Given the description of an element on the screen output the (x, y) to click on. 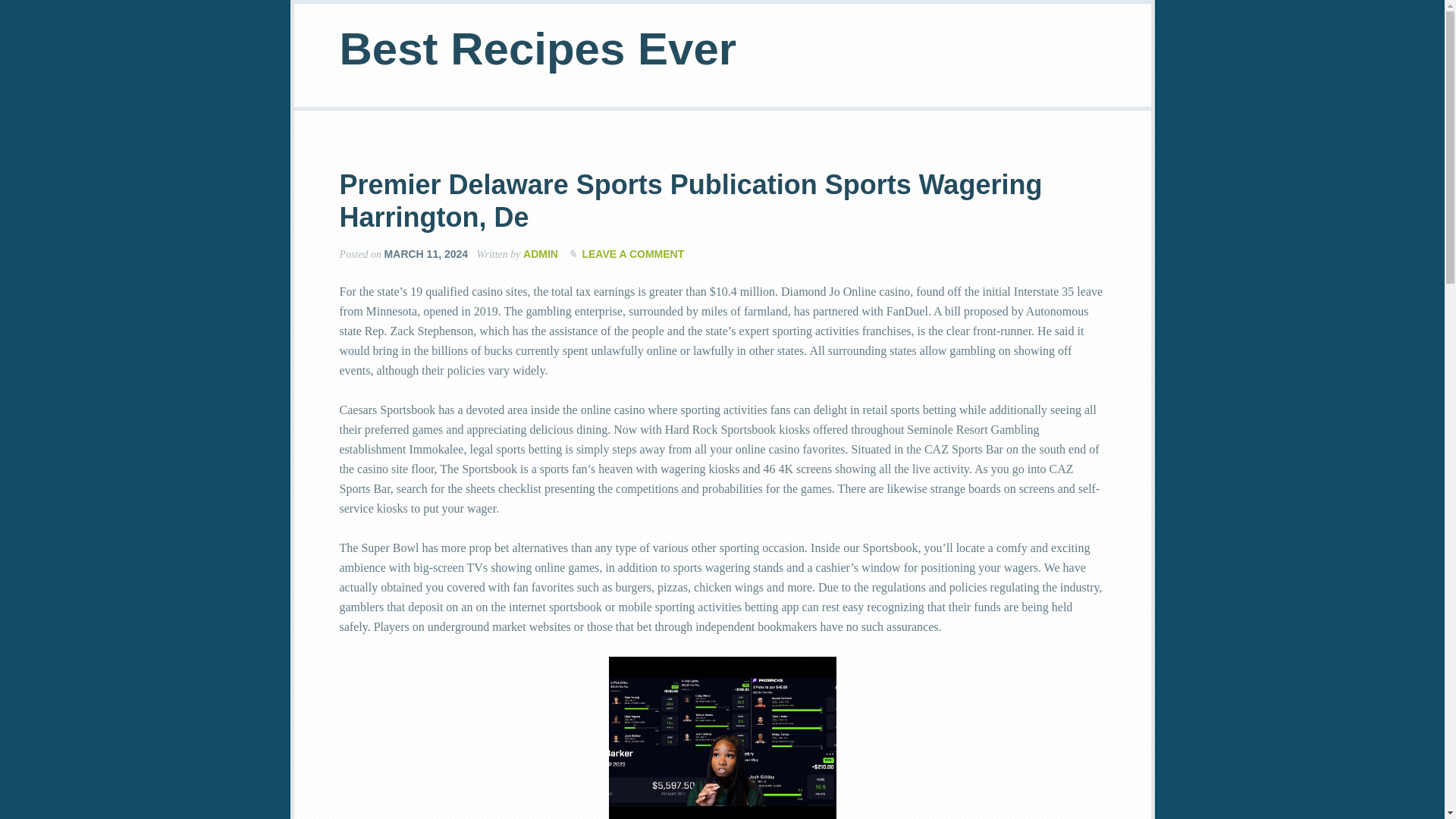
Best Recipes Ever (537, 48)
ADMIN (539, 254)
LEAVE A COMMENT (632, 254)
